Given the description of an element on the screen output the (x, y) to click on. 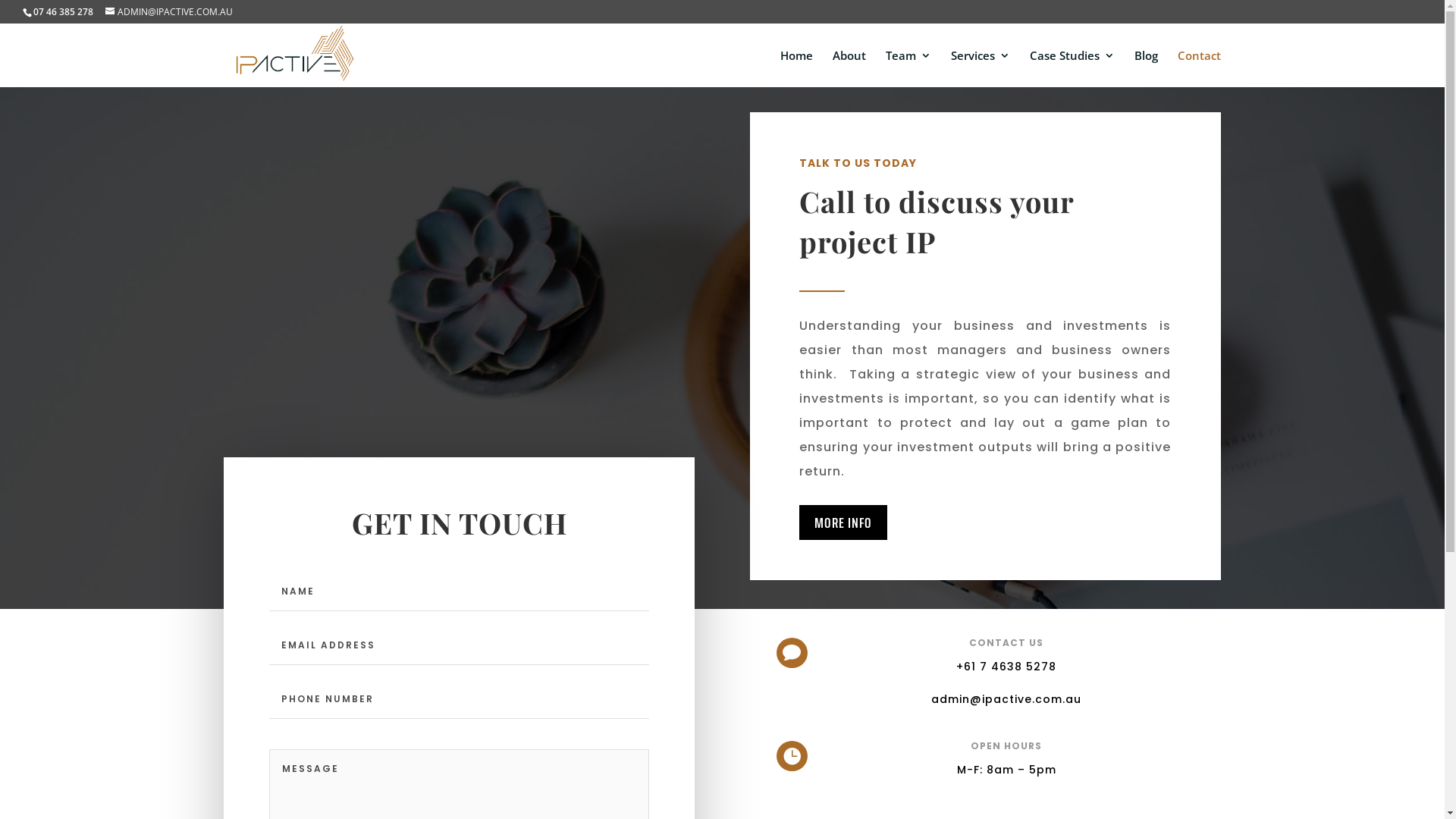
Team Element type: text (908, 68)
About Element type: text (849, 68)
MORE INFO Element type: text (843, 522)
Case Studies Element type: text (1071, 68)
Services Element type: text (980, 68)
Contact Element type: text (1198, 68)
Home Element type: text (796, 68)
ADMIN@IPACTIVE.COM.AU Element type: text (168, 11)
Blog Element type: text (1145, 68)
